Given the description of an element on the screen output the (x, y) to click on. 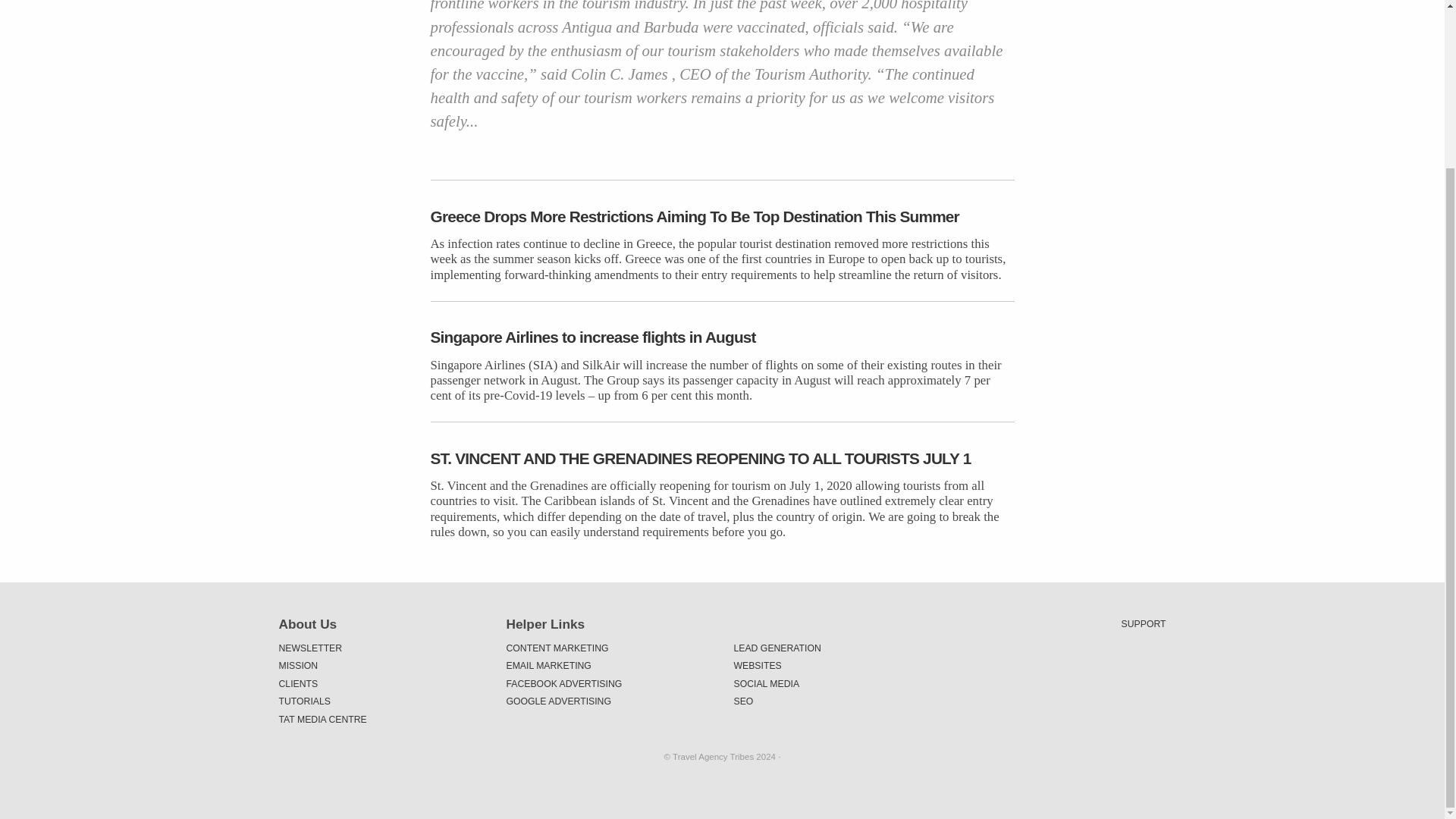
MISSION (381, 665)
WEBSITES (836, 665)
GOOGLE ADVERTISING (608, 701)
SUPPORT (1143, 623)
NEWSLETTER (381, 647)
EMAIL MARKETING (608, 665)
LEAD GENERATION (836, 647)
TUTORIALS (381, 701)
